Given the description of an element on the screen output the (x, y) to click on. 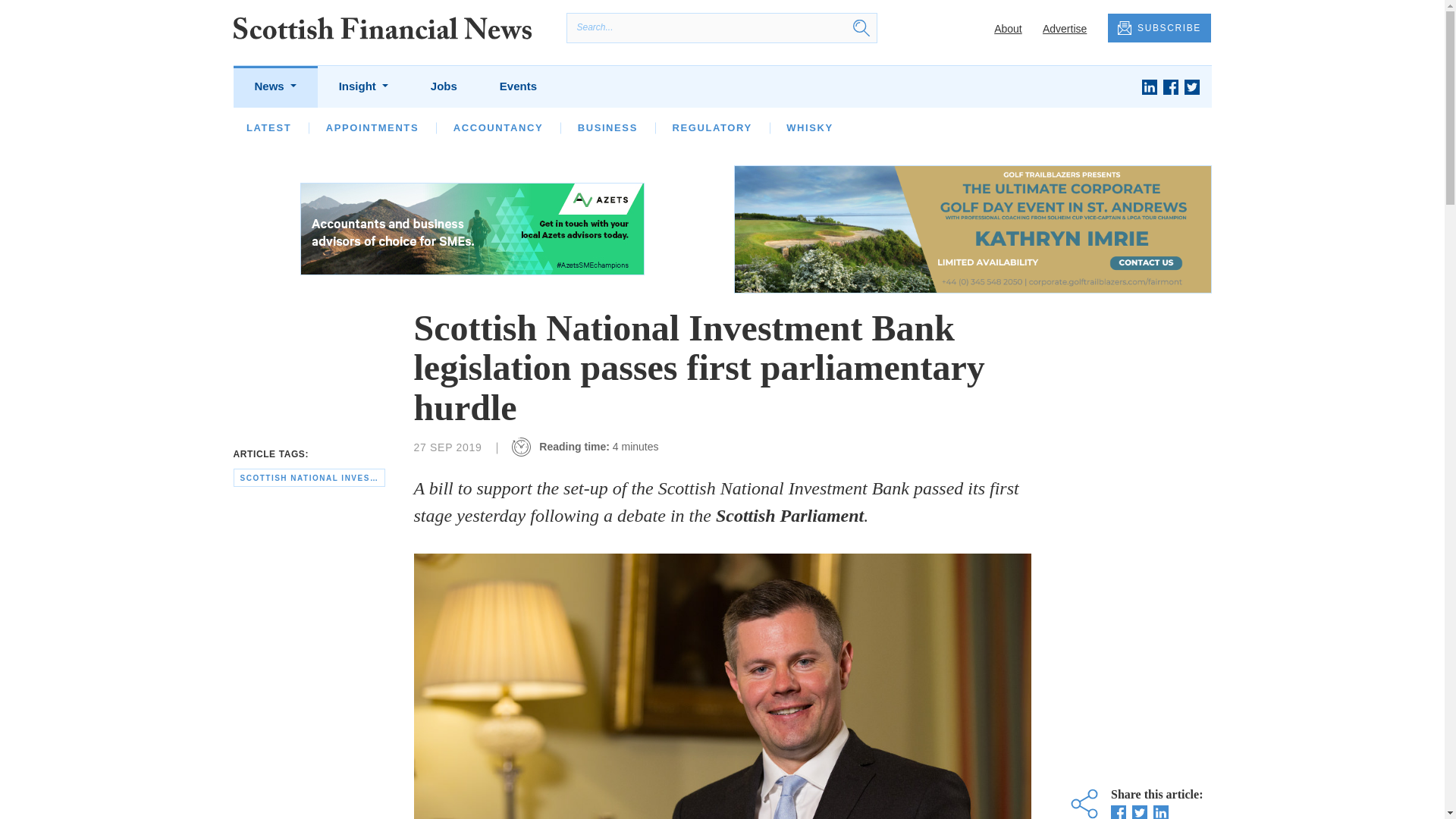
SUBSCRIBE (1158, 28)
News (274, 86)
Events (518, 86)
ACCOUNTANCY (497, 127)
LATEST (268, 127)
Insight (363, 86)
INTERVIEWS (446, 127)
APPOINTMENTS (372, 127)
BUSINESS (607, 127)
About (1008, 28)
